Given the description of an element on the screen output the (x, y) to click on. 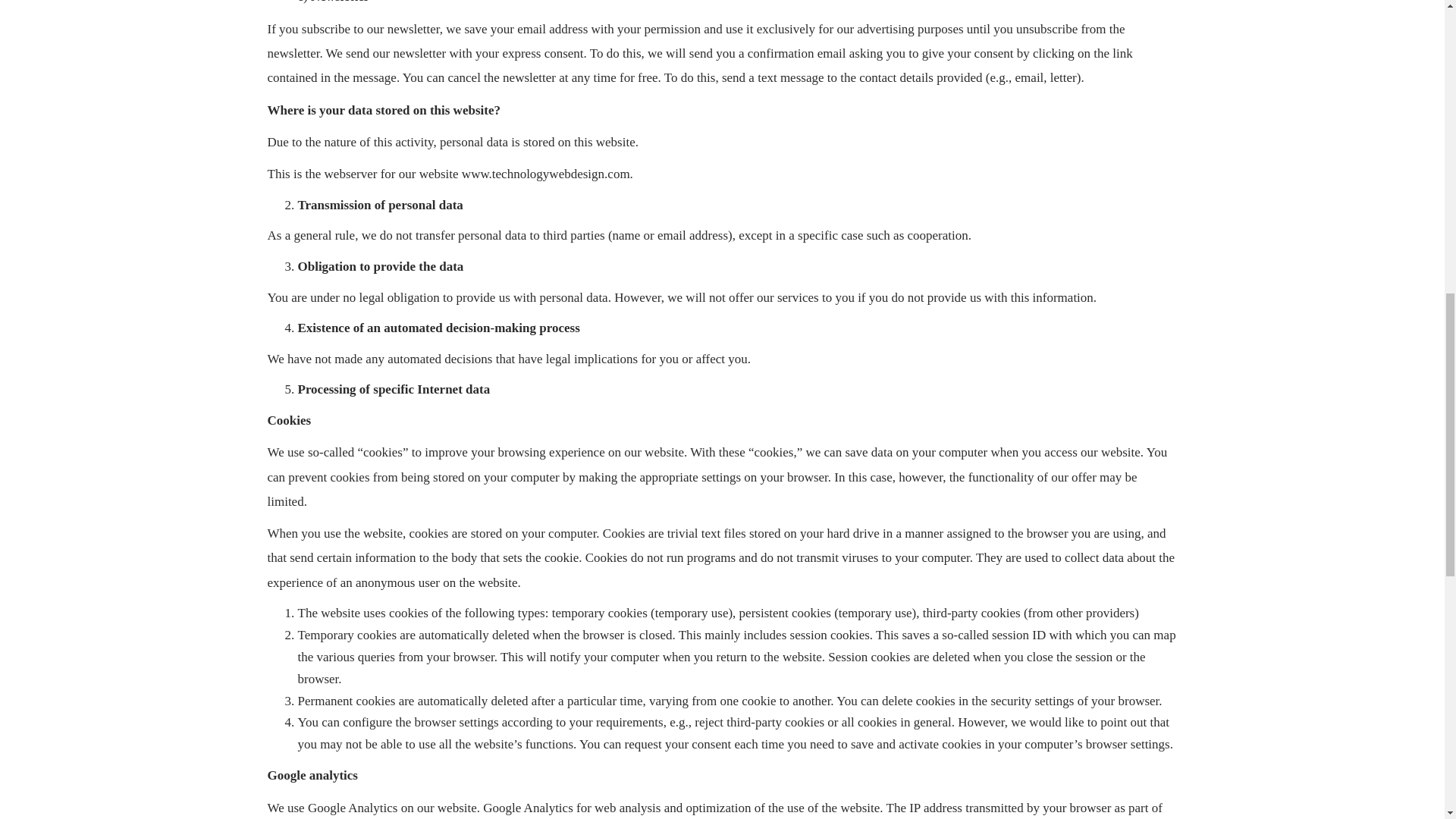
www.technologywebdesign.com (545, 173)
